Given the description of an element on the screen output the (x, y) to click on. 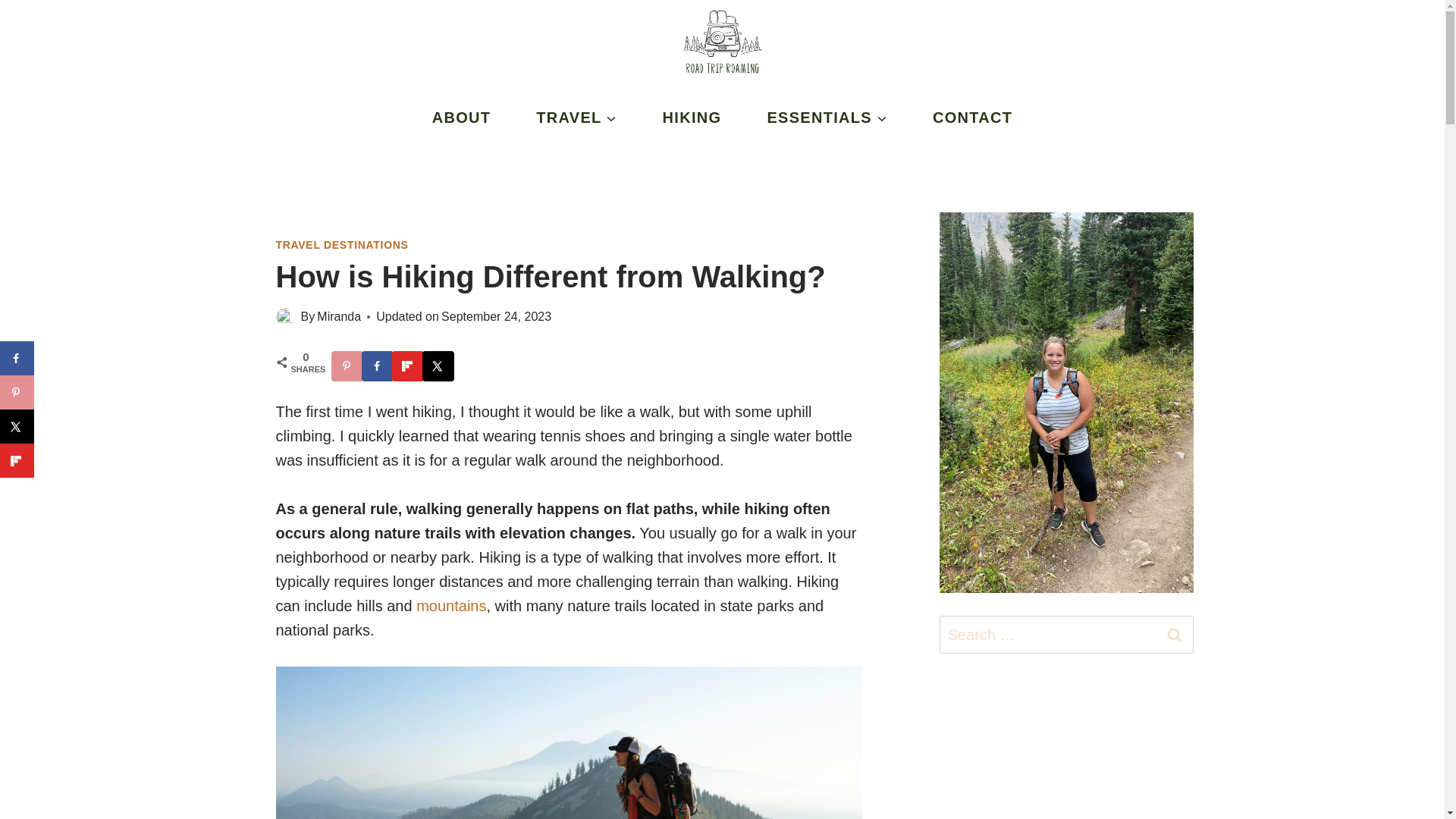
TRAVEL DESTINATIONS (342, 244)
HIKING (692, 117)
ABOUT (461, 117)
CONTACT (972, 117)
Search (1174, 634)
Share on Facebook (377, 366)
TRAVEL (576, 117)
Search (1174, 634)
ESSENTIALS (827, 117)
Save to Pinterest (346, 366)
Share on X (437, 366)
Miranda (339, 316)
Share on Flipboard (408, 366)
mountains (451, 605)
mountains (451, 605)
